Given the description of an element on the screen output the (x, y) to click on. 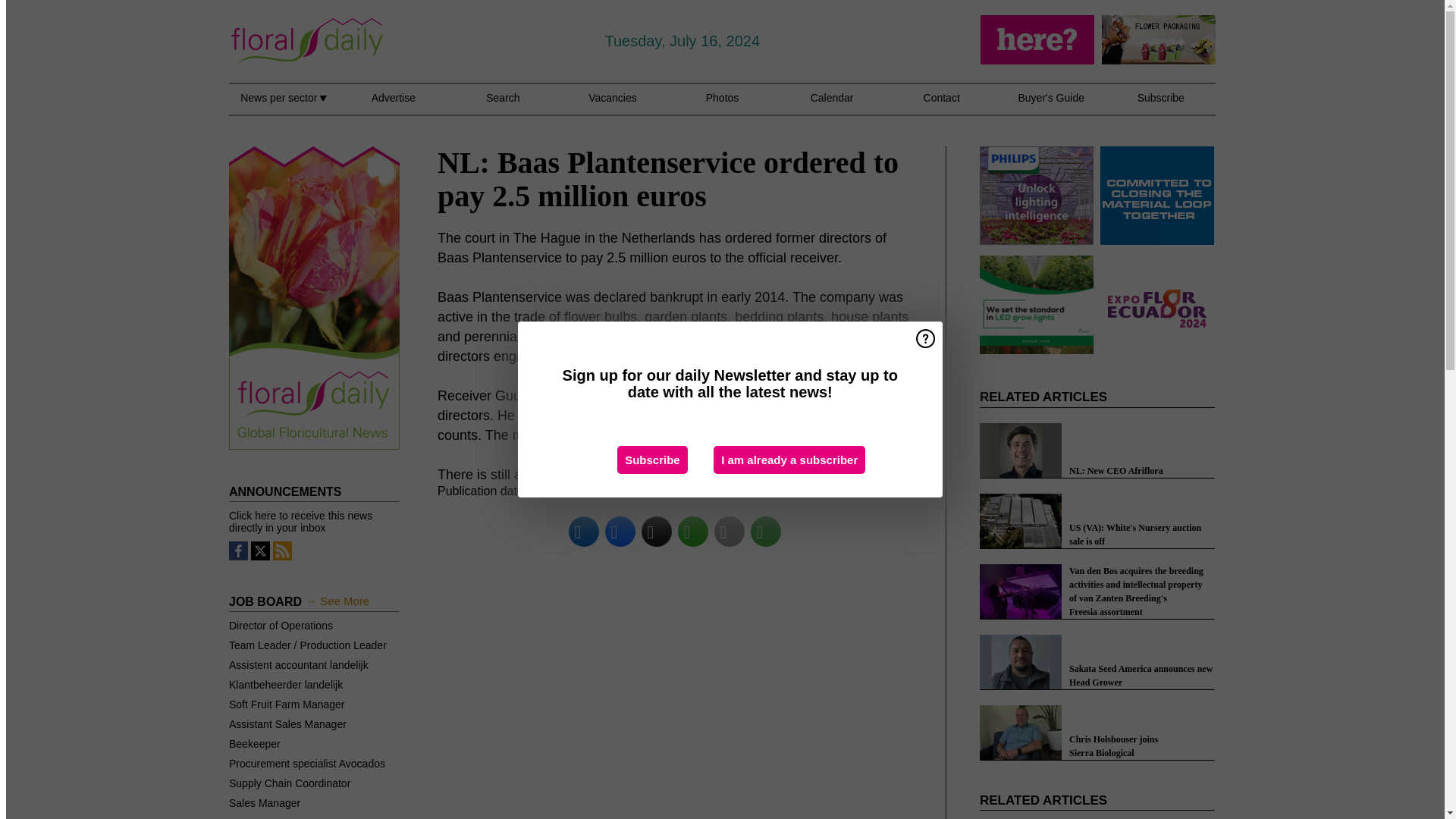
Advertise (392, 106)
News per sector (283, 106)
Email This (729, 531)
Subscribe (652, 459)
LinkedIn (584, 531)
I am already a subscriber (788, 459)
More Options (766, 531)
Facebook (620, 531)
WhatsApp (693, 531)
